Given the description of an element on the screen output the (x, y) to click on. 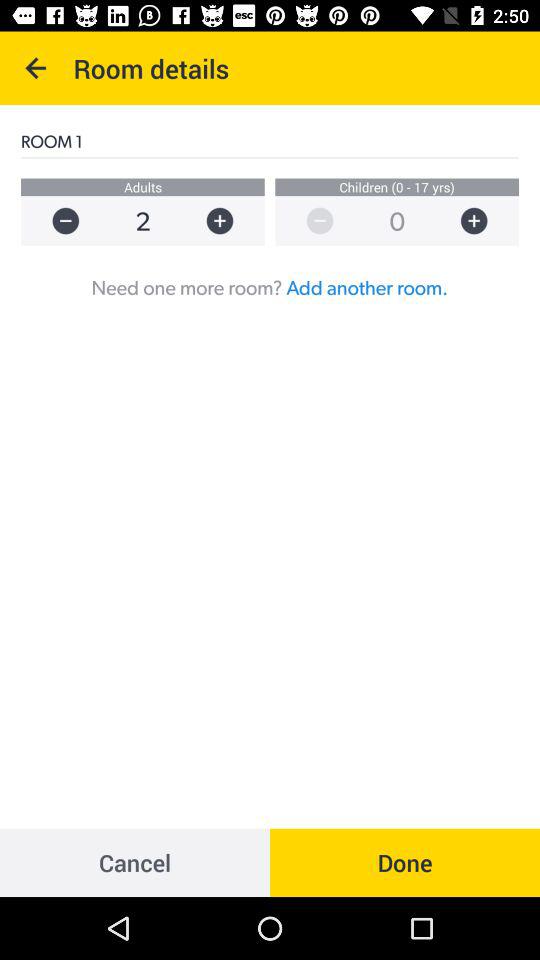
select minus (55, 220)
